Given the description of an element on the screen output the (x, y) to click on. 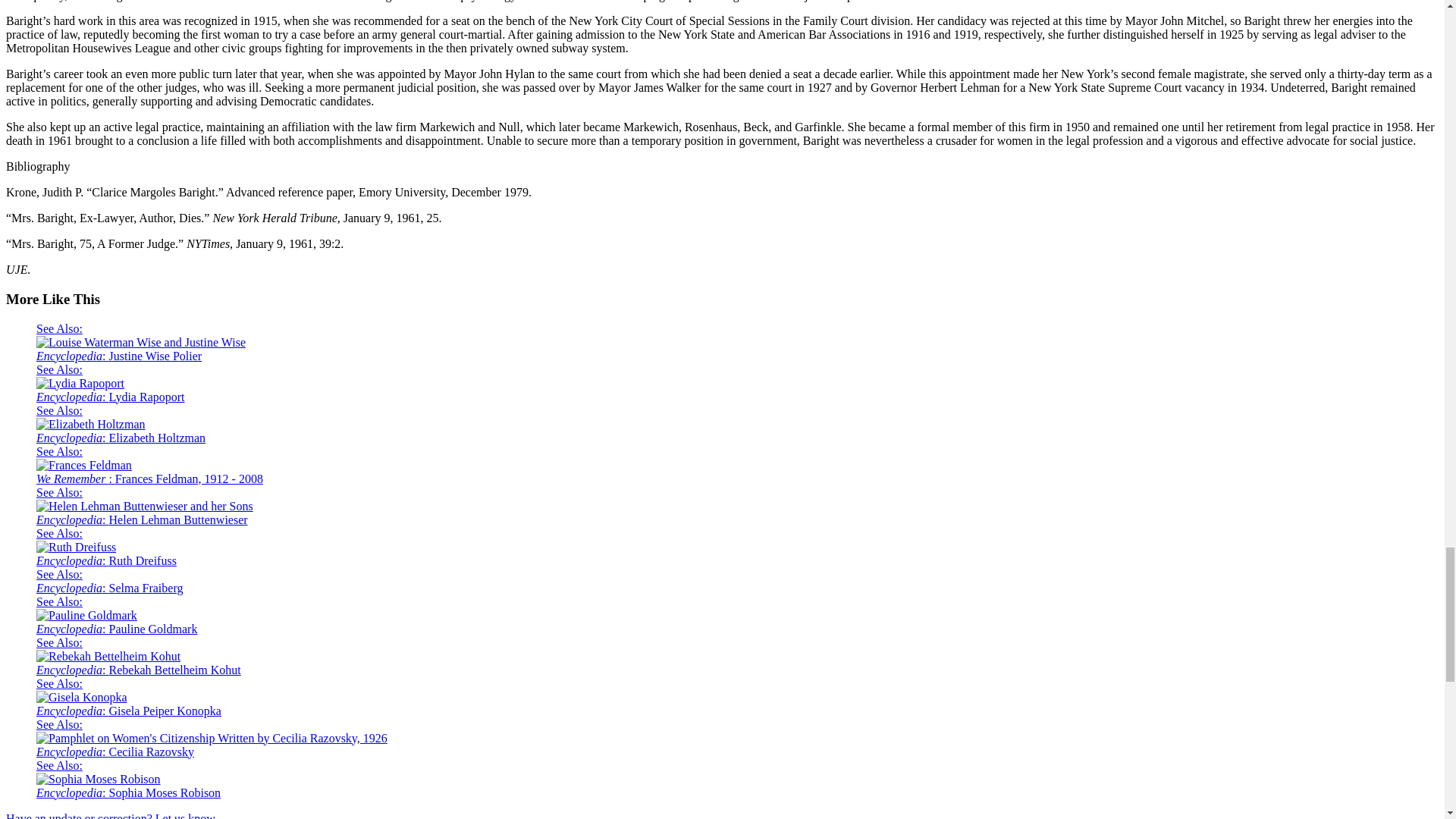
Helen Lehman Buttenwieser and her Sons (144, 505)
Lydia Rapoport (79, 382)
Louise Waterman Wise and Justine Wise  (141, 341)
Frances Feldman (84, 464)
